Given the description of an element on the screen output the (x, y) to click on. 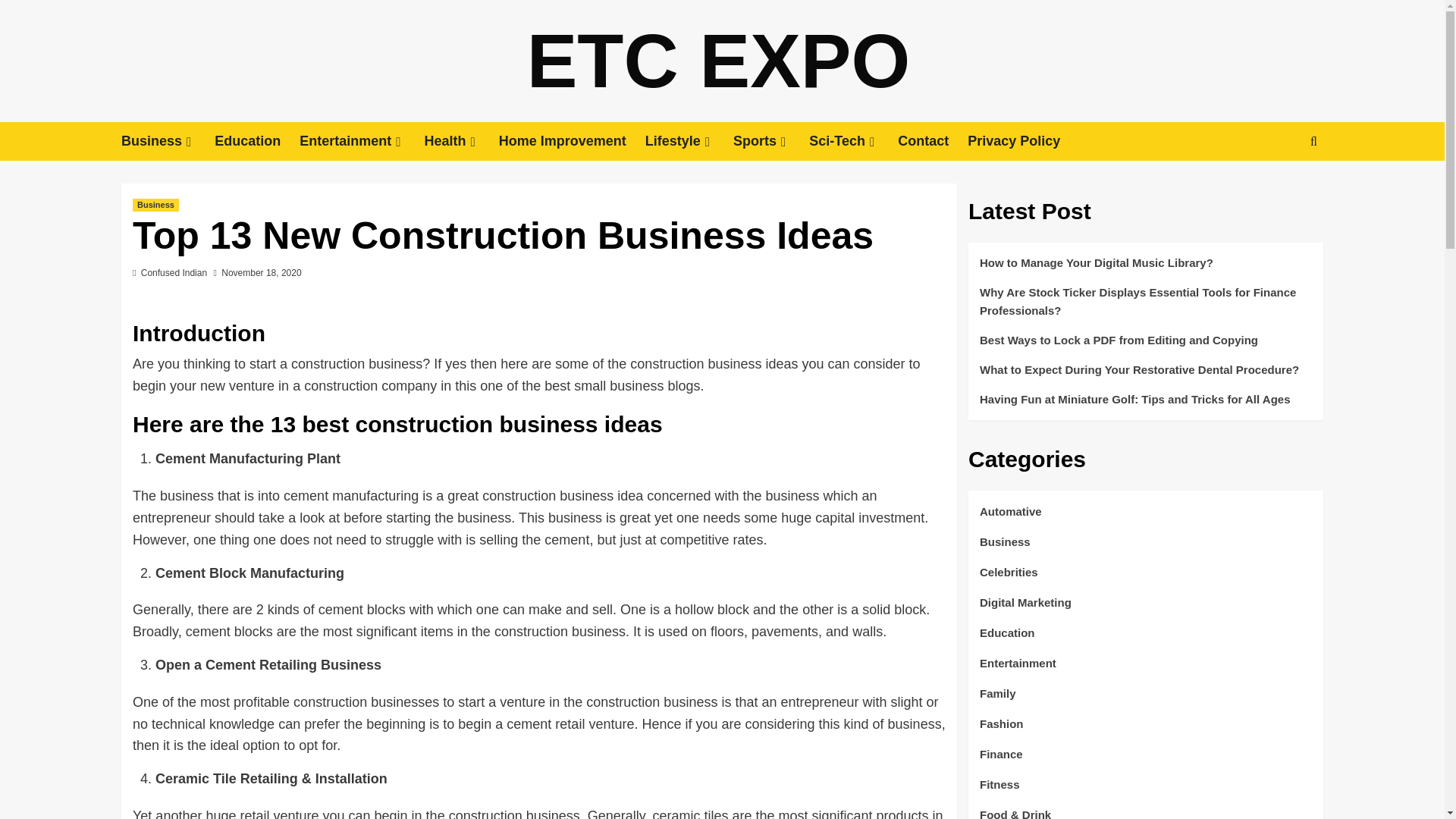
Privacy Policy (1023, 141)
ETC EXPO (719, 60)
Health (462, 141)
Sports (771, 141)
Education (256, 141)
Lifestyle (689, 141)
Entertainment (361, 141)
Contact (933, 141)
Business (167, 141)
Home Improvement (572, 141)
Sci-Tech (853, 141)
